Given the description of an element on the screen output the (x, y) to click on. 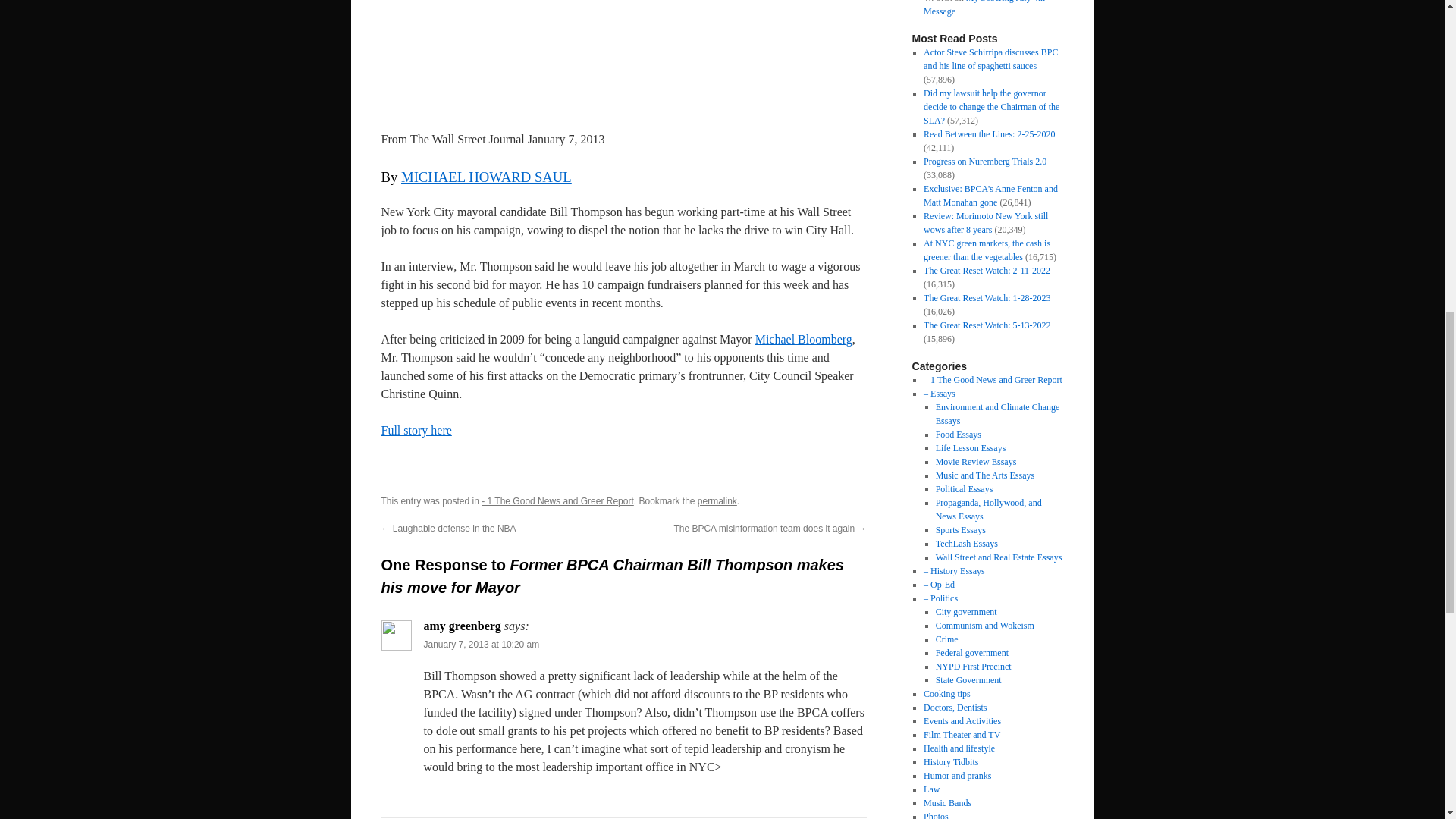
Review: Morimoto New York still wows after 8 years (985, 222)
The Great Reset Watch: 2-11-2022 (986, 270)
permalink (716, 501)
My Sobering July 4th Message (984, 8)
Full story here (415, 430)
The Great Reset Watch: 1-28-2023 (986, 297)
January 7, 2013 at 10:20 am (480, 644)
The Great Reset Watch: 2-11-2022 (986, 270)
Exclusive: BPCA's Anne Fenton and Matt Monahan gone (990, 195)
The Great Reset Watch: 1-28-2023 (986, 297)
Exclusive: BPCA's Anne Fenton and Matt Monahan gone (990, 195)
